Given the description of an element on the screen output the (x, y) to click on. 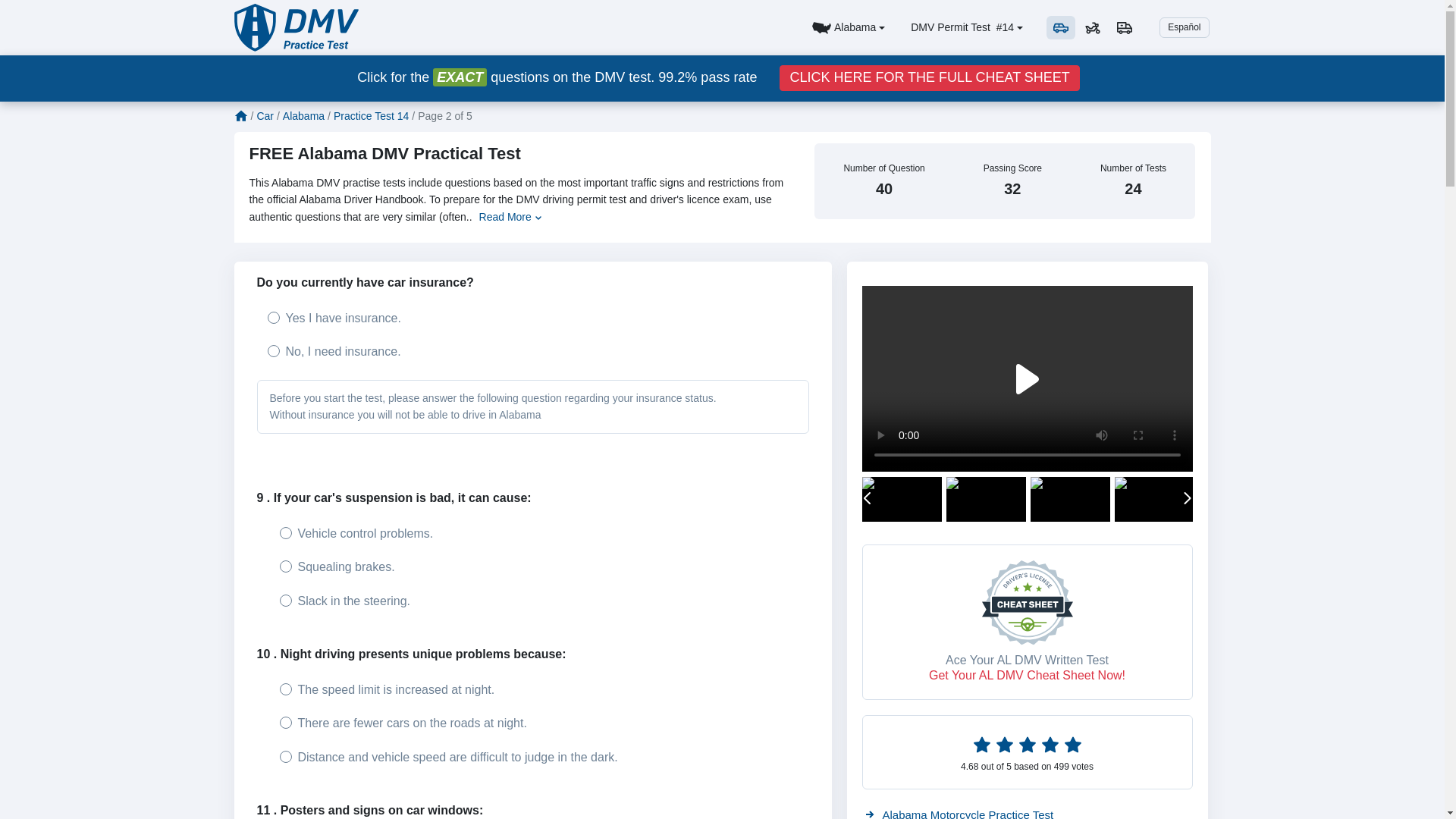
Alabama (848, 28)
Alabama Knowledge Test Class A (1124, 27)
Alabama Car Practice Test (1060, 27)
DMV Permit Test (992, 27)
Read More  (510, 216)
Ace Your  DMV Written Test (928, 77)
Practice Test (295, 27)
Alabama Motorcycle Practice Test (1092, 27)
Practice Test - Per State (848, 28)
